Given the description of an element on the screen output the (x, y) to click on. 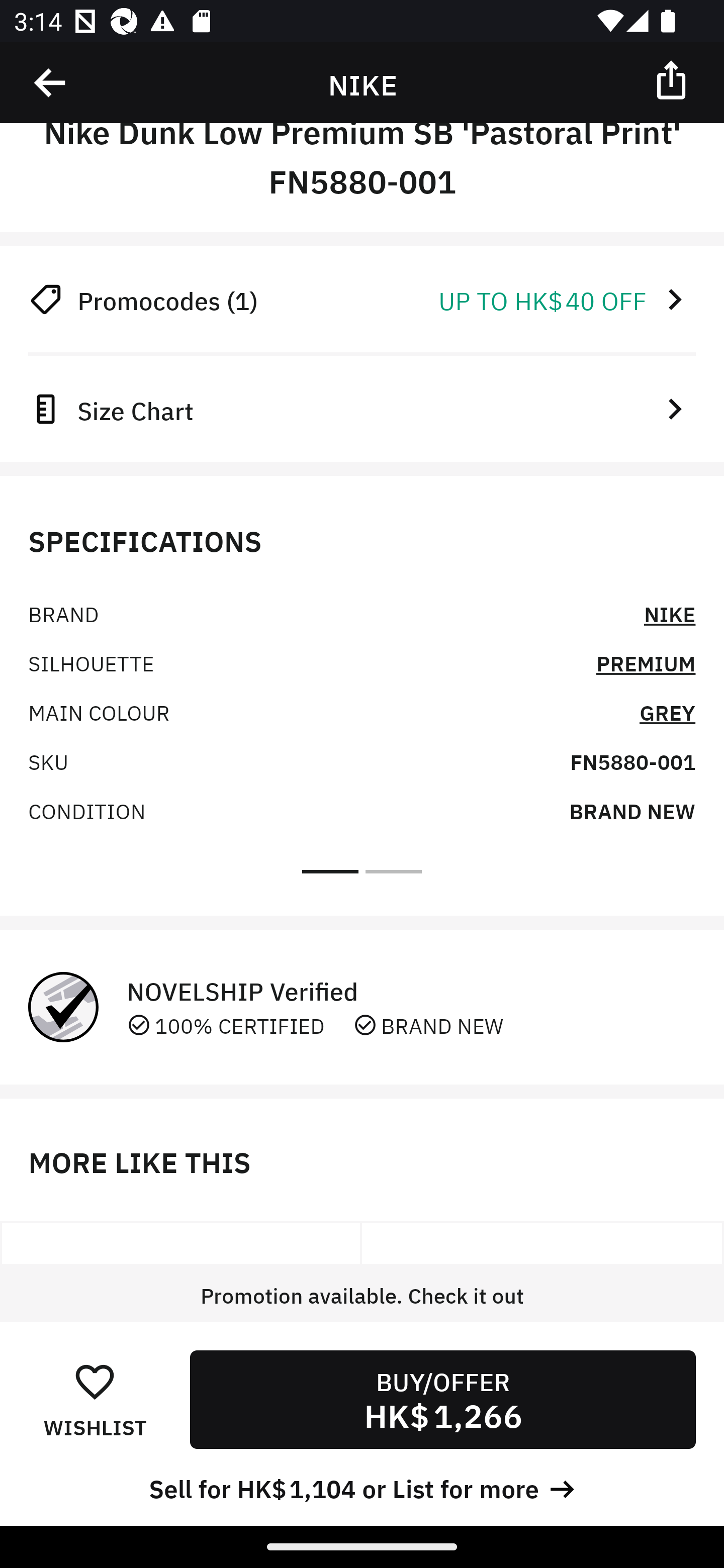
 (50, 83)
 (672, 79)
Promocodes (1) UP TO HK$ 40 OFF  (361, 298)
Size Chart  (361, 408)
NIKE (669, 612)
PREMIUM (645, 662)
GREY (667, 711)
FN5880-001 (632, 760)
BRAND NEW (632, 809)
BUY/OFFER HK$ 1,266 (442, 1399)
󰋕 (94, 1380)
Sell for HK$ 1,104 or List for more (361, 1486)
